Given the description of an element on the screen output the (x, y) to click on. 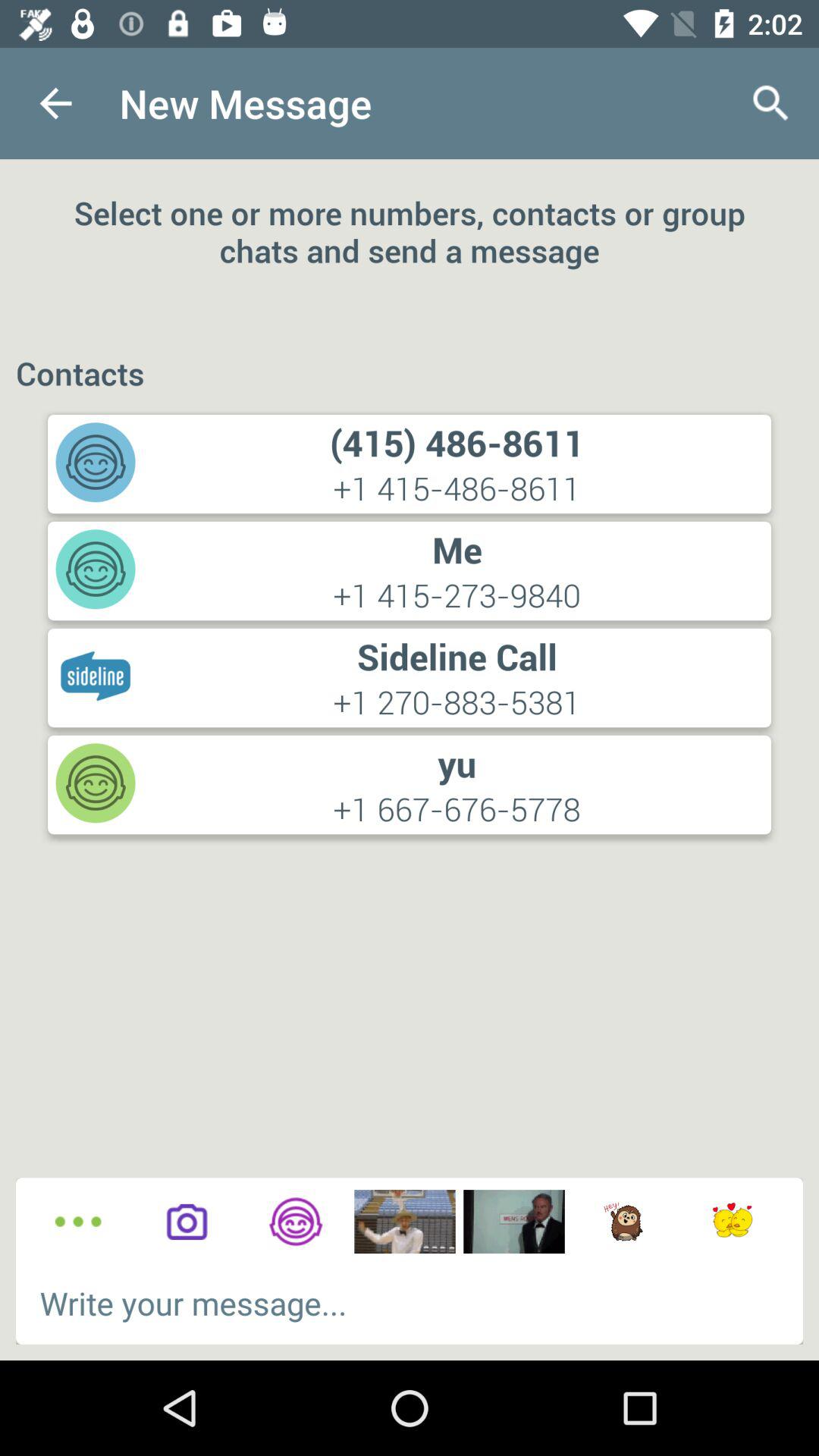
camera (186, 1221)
